Given the description of an element on the screen output the (x, y) to click on. 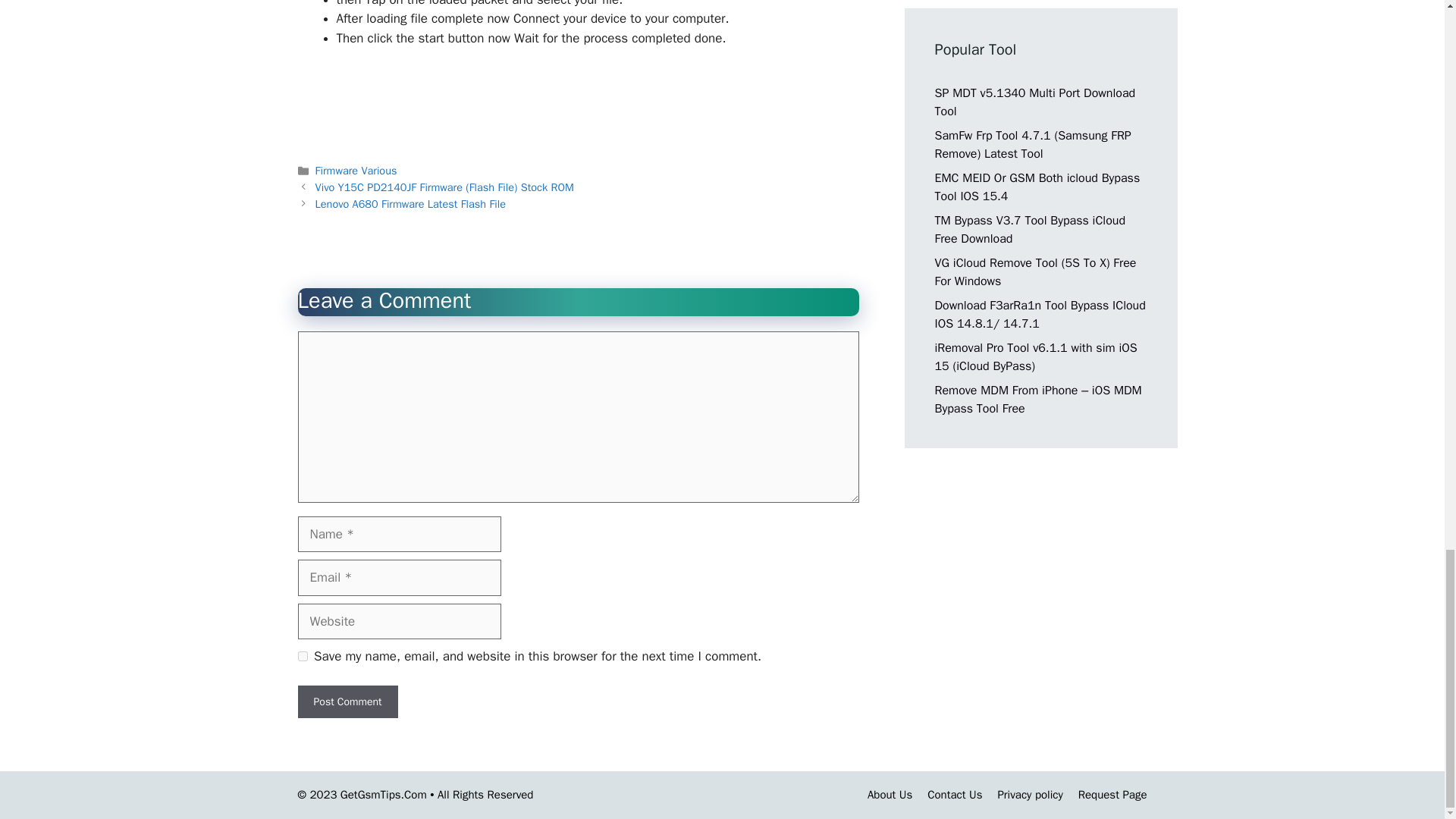
Privacy policy (1029, 794)
Request Page (1112, 794)
Post Comment (347, 701)
yes (302, 655)
About Us (889, 794)
Advertisement (577, 101)
Firmware Various (356, 170)
Post Comment (347, 701)
Contact Us (954, 794)
Lenovo A680 Firmware Latest Flash File (410, 203)
